Given the description of an element on the screen output the (x, y) to click on. 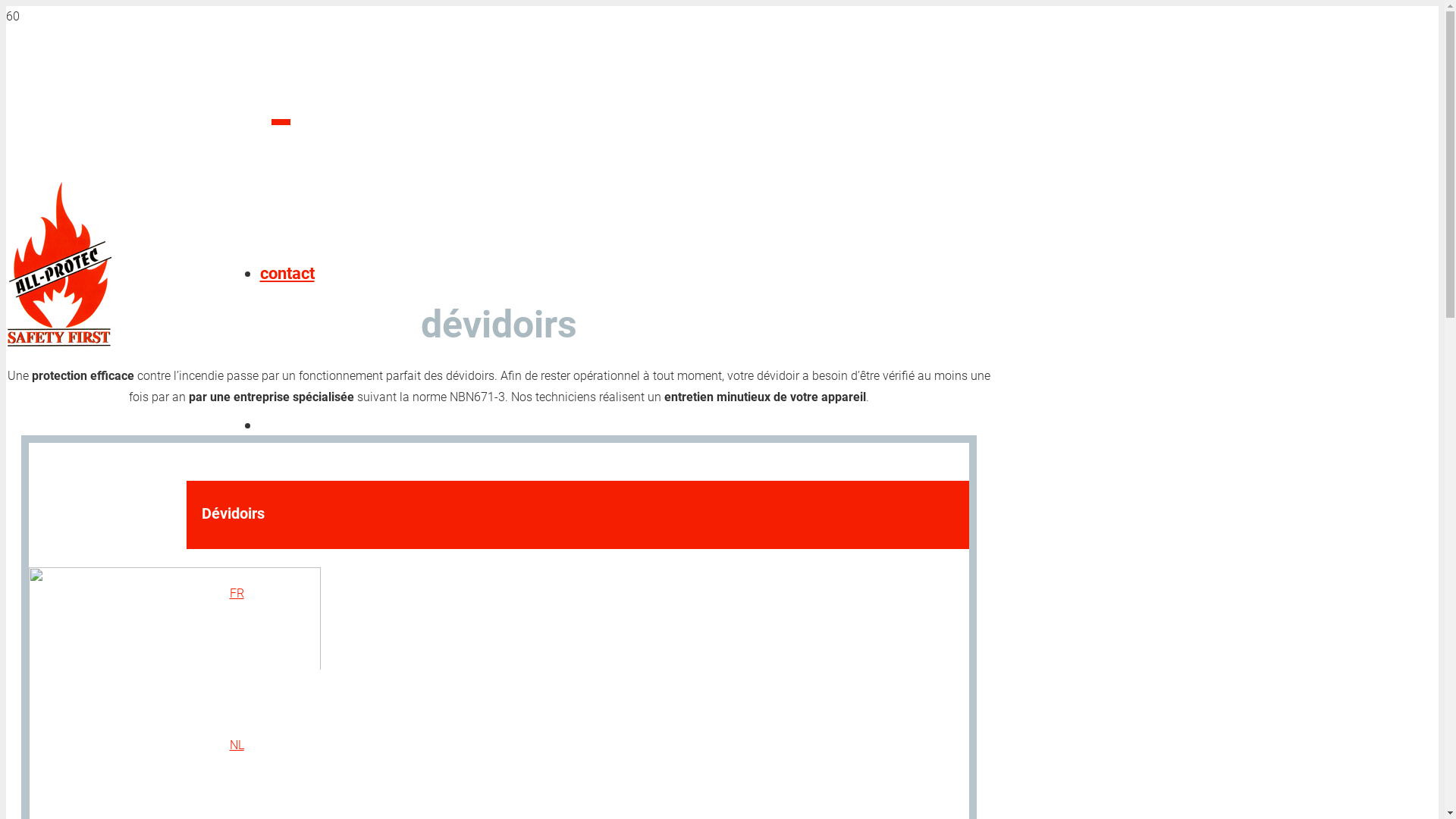
FR Element type: text (236, 593)
contact Element type: text (286, 272)
NL Element type: text (236, 744)
